Given the description of an element on the screen output the (x, y) to click on. 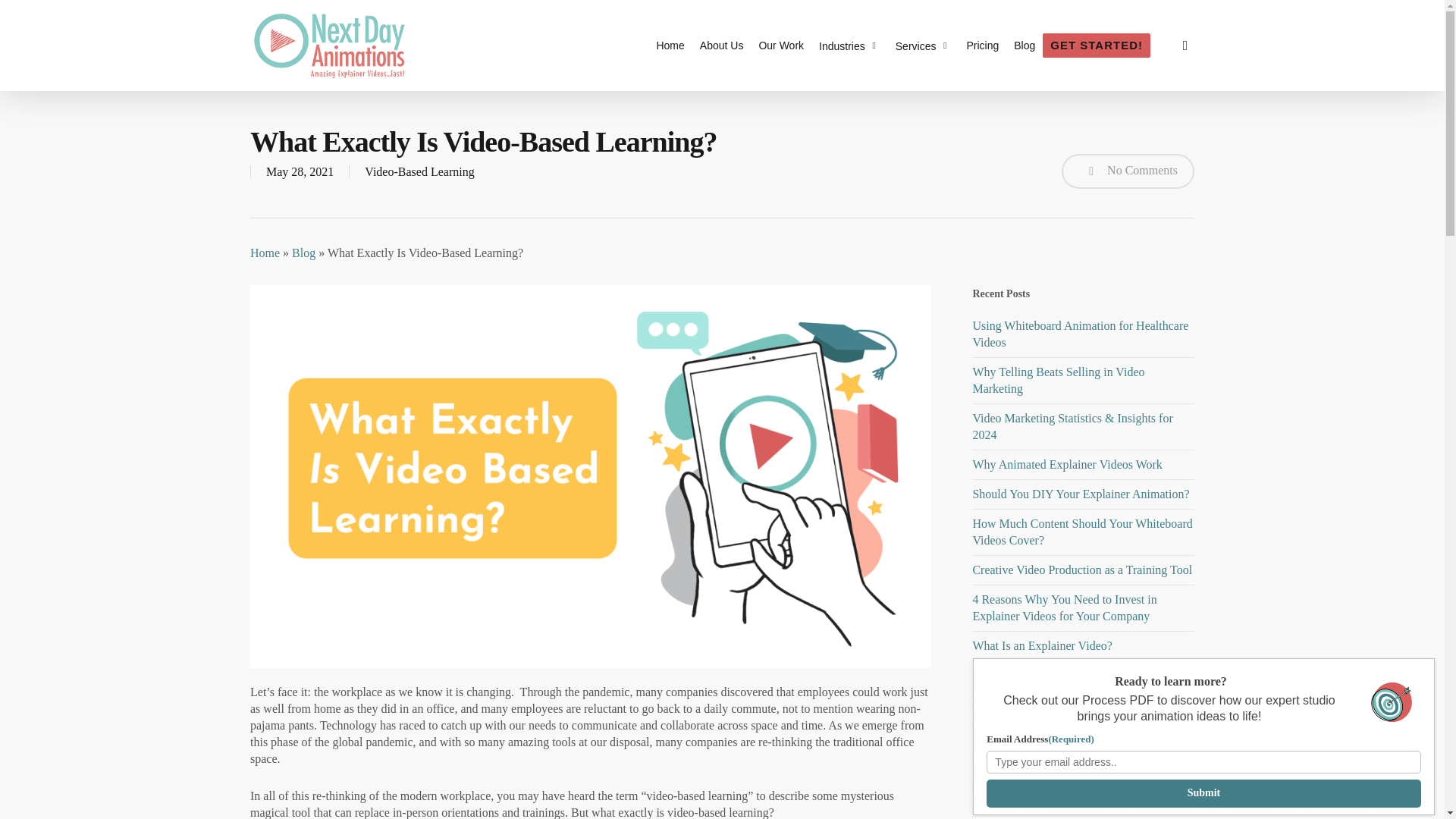
Services (923, 45)
Using Whiteboard Animation for Healthcare Videos (1080, 333)
Submit (1204, 793)
Creative Video Production as a Training Tool (1082, 569)
Should You DIY Your Explainer Animation? (1080, 493)
search (1184, 45)
Our Work (780, 44)
Using 2D Animation to Grow Your Business (1080, 767)
No Comments (1127, 171)
Why Animated Explainer Videos Work (1066, 463)
Blog (303, 252)
GET STARTED! (1096, 45)
Blog (1024, 44)
